Given the description of an element on the screen output the (x, y) to click on. 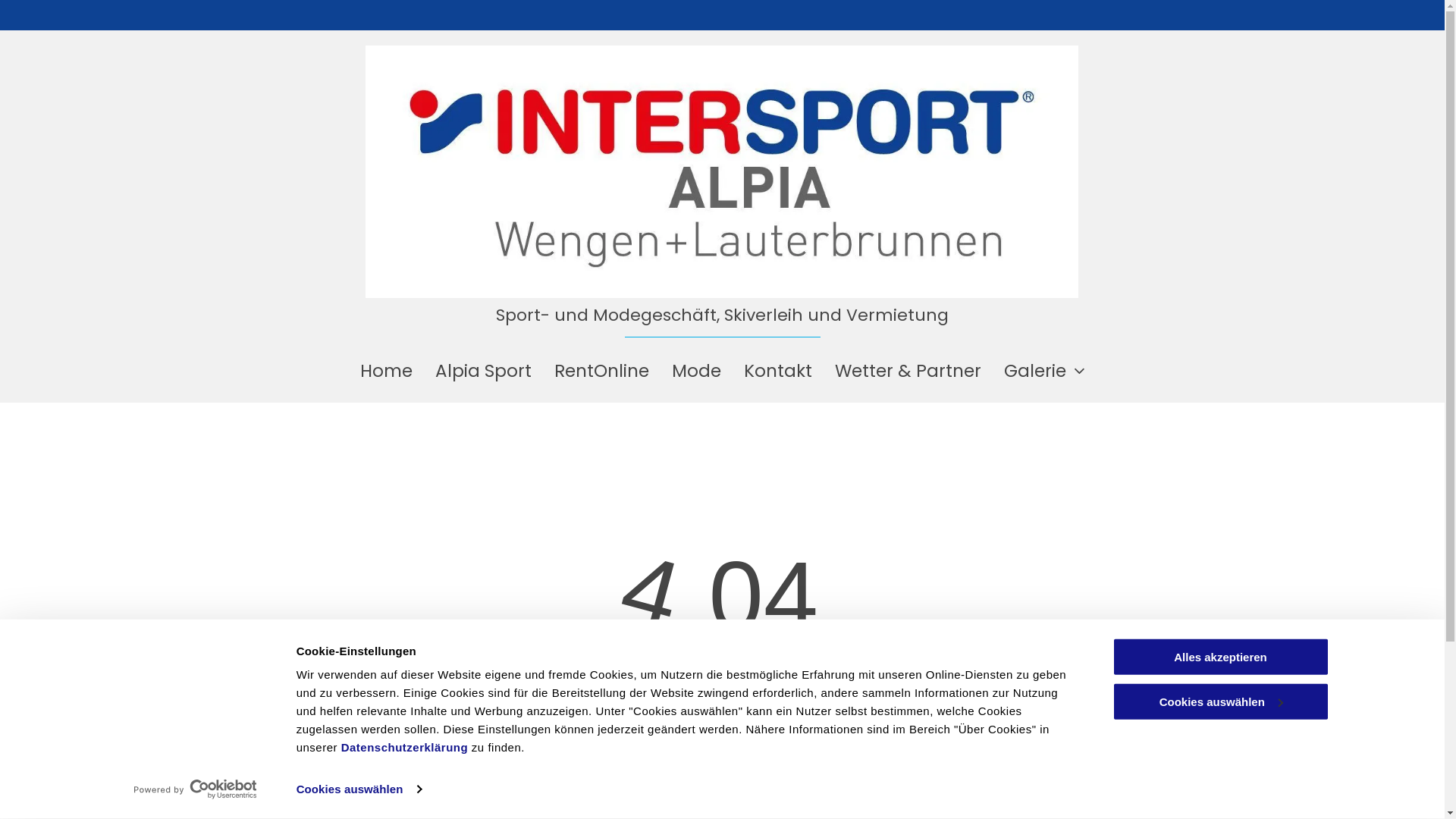
Home Element type: text (385, 370)
Alles akzeptieren Element type: text (1219, 656)
Wetter & Partner Element type: text (907, 370)
Kontakt Element type: text (777, 370)
Alpia Sport Element type: text (482, 370)
RentOnline Element type: text (601, 370)
Zur Startseite Element type: text (721, 785)
Galerie Element type: text (1043, 370)
Mode Element type: text (695, 370)
